Given the description of an element on the screen output the (x, y) to click on. 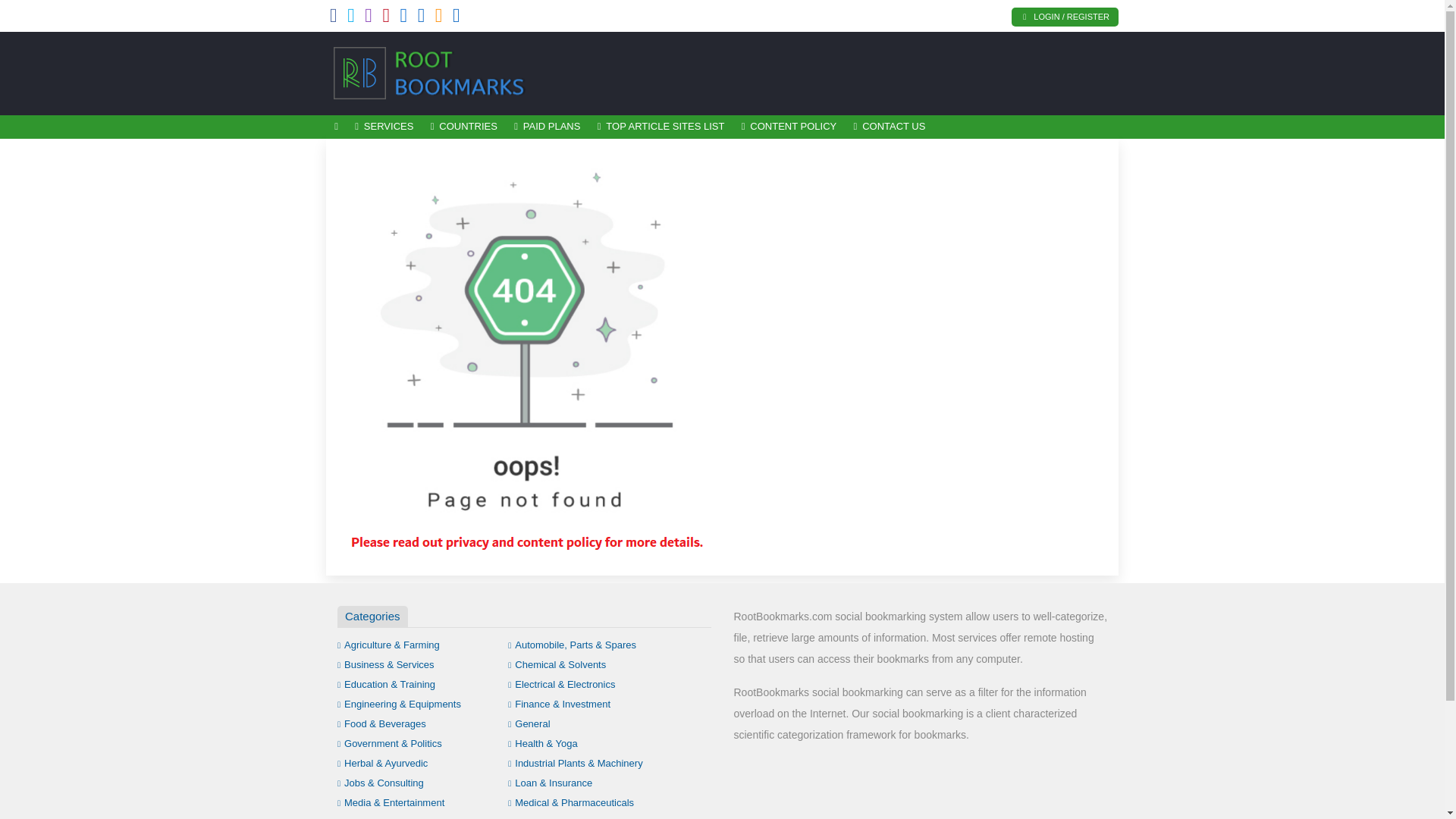
CONTENT POLICY (789, 126)
TOP ARTICLE SITES LIST (661, 126)
PAID PLANS (547, 126)
CONTACT US (888, 126)
COUNTRIES (463, 126)
General (529, 723)
SERVICES (384, 126)
